Given the description of an element on the screen output the (x, y) to click on. 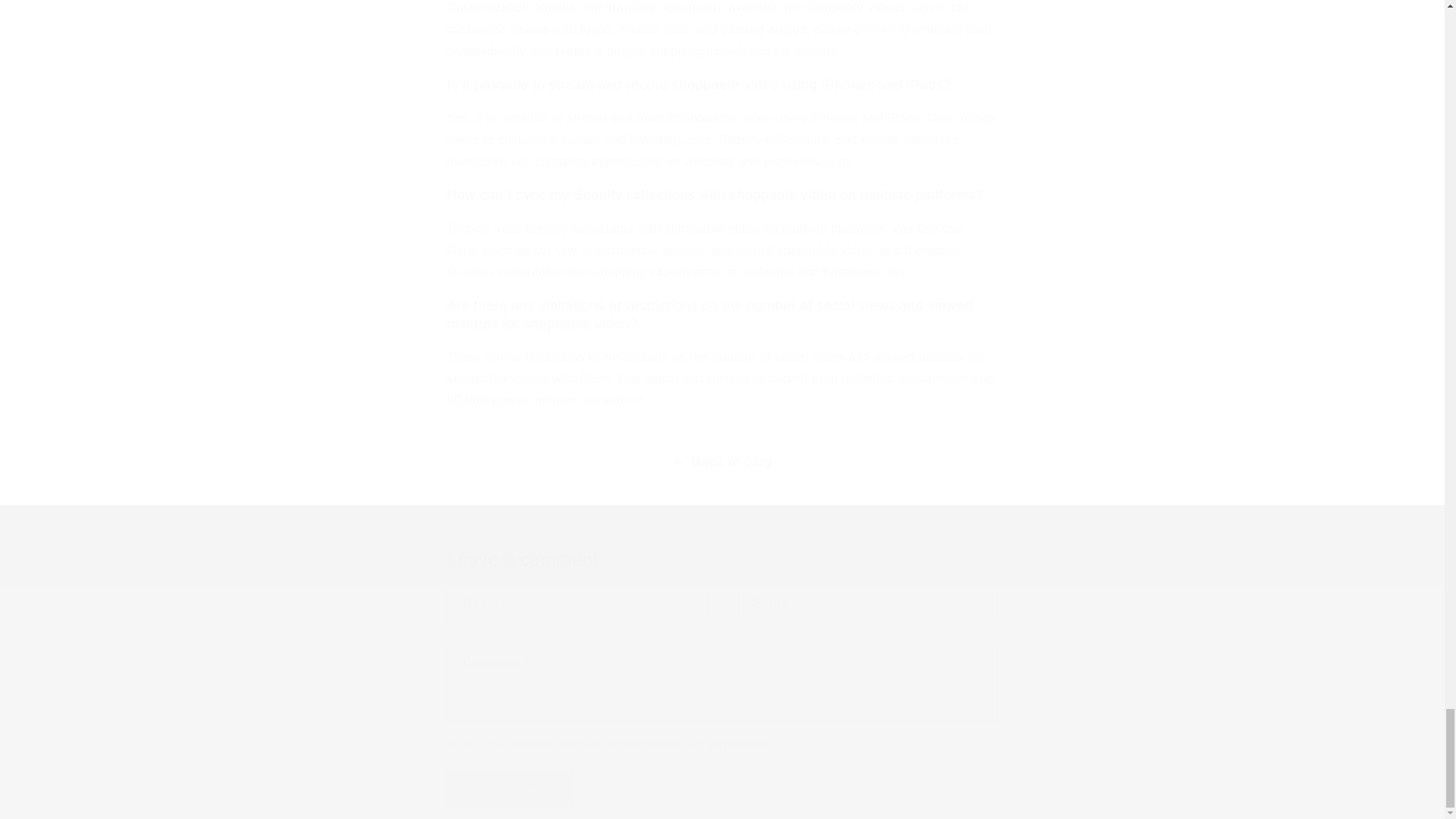
Post comment (510, 788)
Post comment (510, 788)
